Given the description of an element on the screen output the (x, y) to click on. 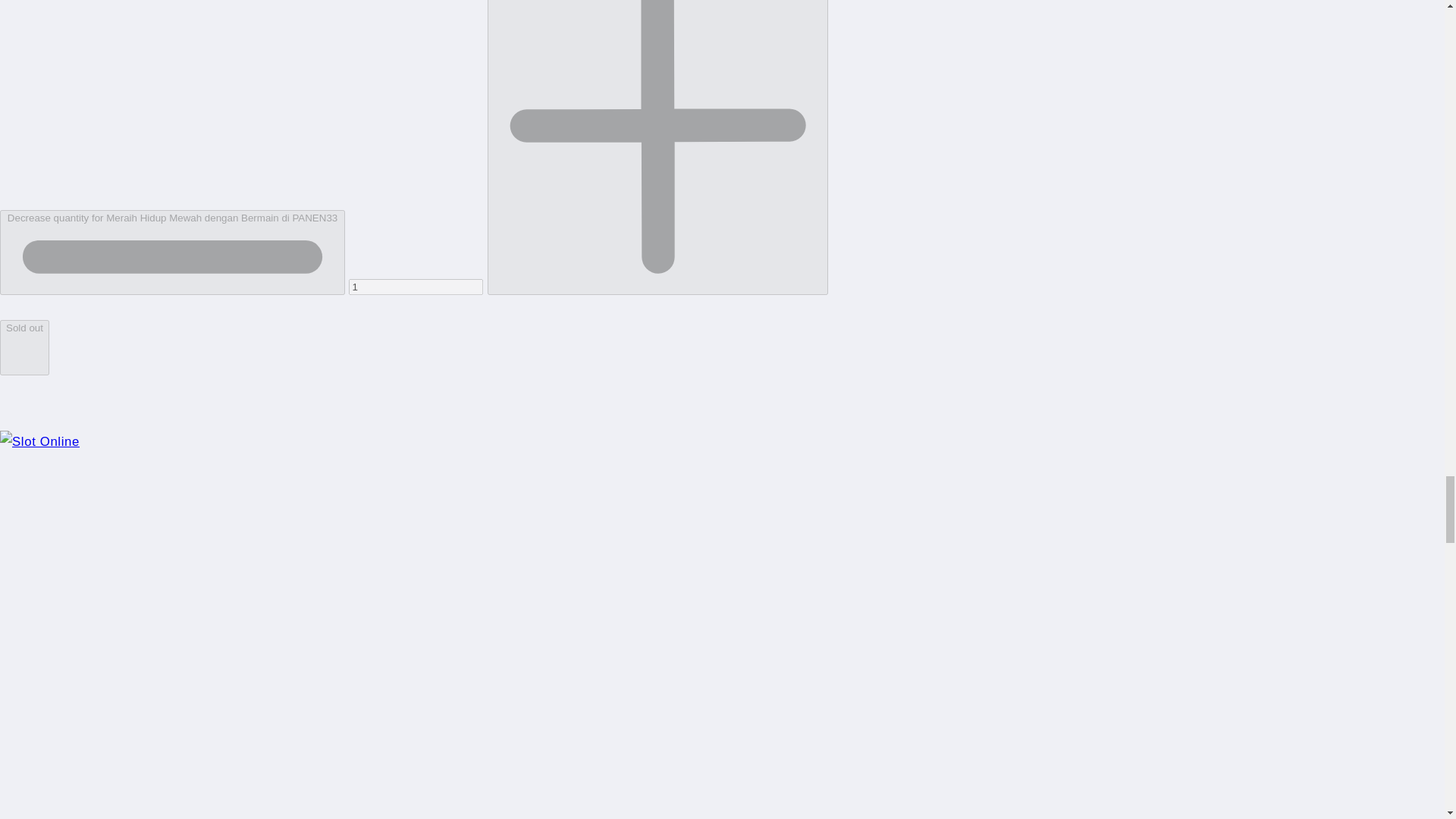
1 (416, 286)
Sold out (24, 347)
